Given the description of an element on the screen output the (x, y) to click on. 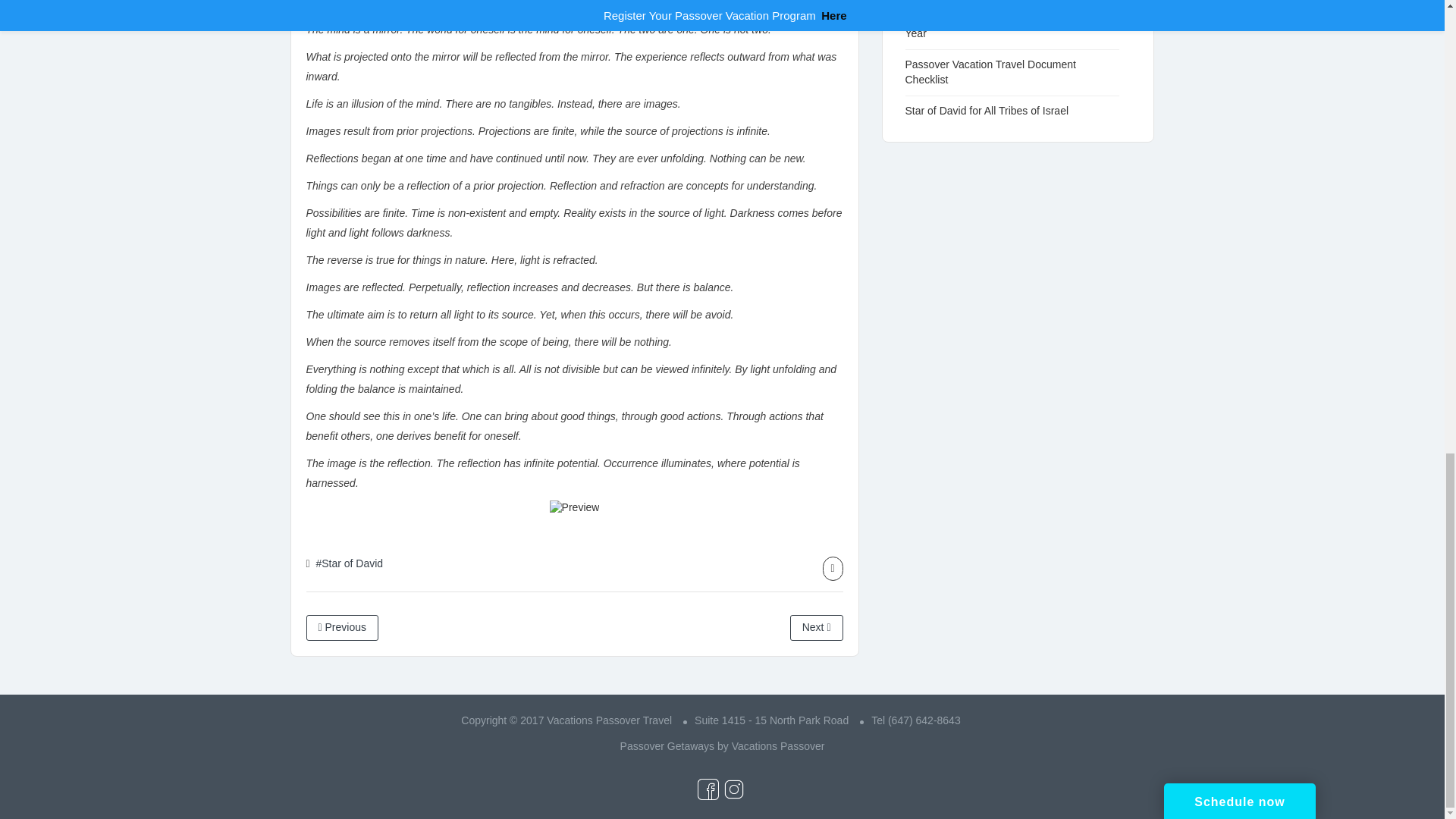
Star of David for All Tribes of Israel (994, 110)
Best Passover Vacation Destinations Of The Year (1009, 25)
Previous (341, 627)
Vacations Passover (778, 746)
Passover Vacation Travel Document Checklist (990, 71)
Next (816, 627)
